Given the description of an element on the screen output the (x, y) to click on. 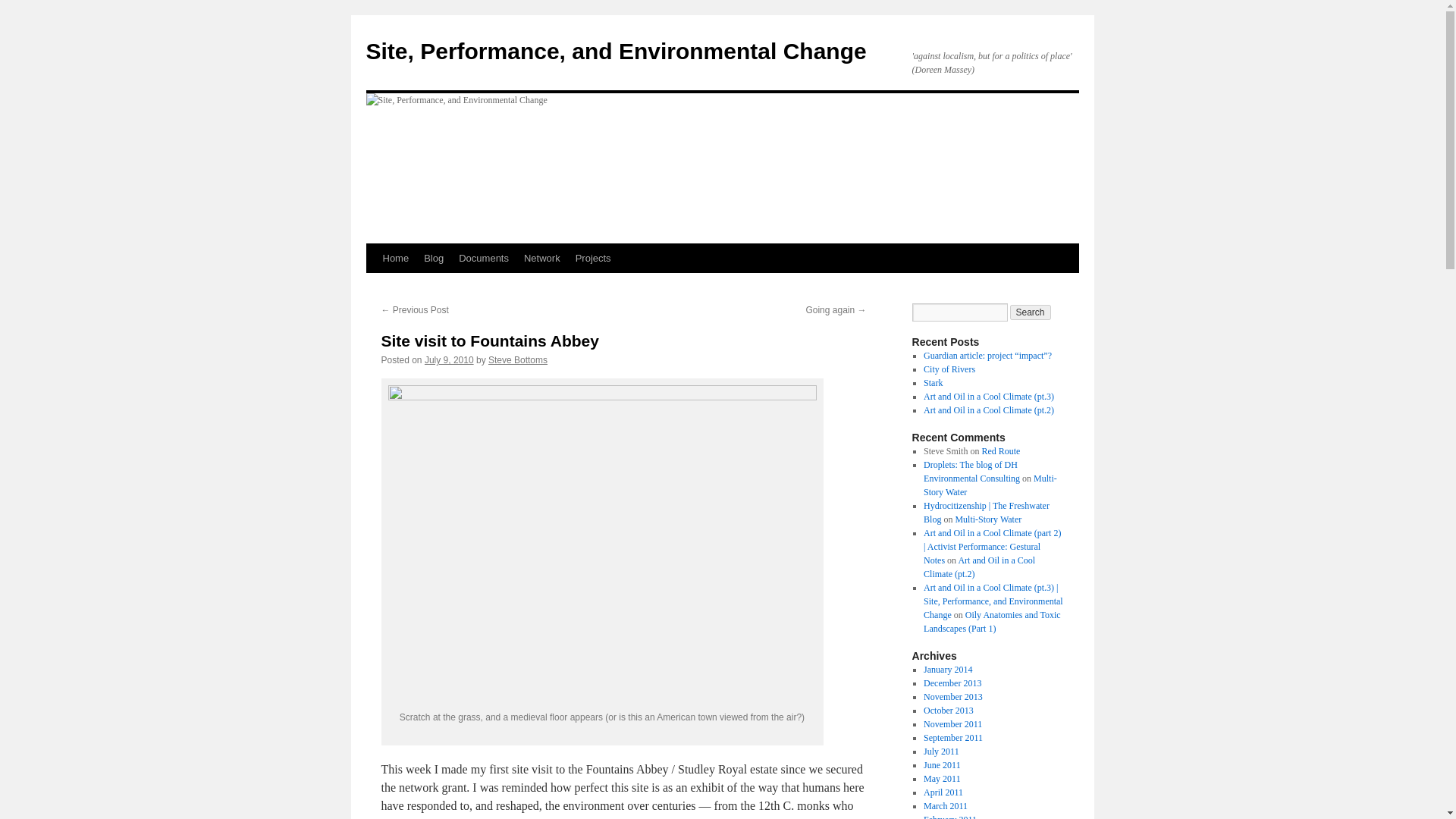
Steve Bottoms (517, 359)
Documents (483, 258)
Site, Performance, and Environmental Change (615, 50)
9:52 pm (449, 359)
Network (541, 258)
View all posts by Steve Bottoms (517, 359)
July 9, 2010 (449, 359)
Blog (433, 258)
Search (1030, 312)
